Given the description of an element on the screen output the (x, y) to click on. 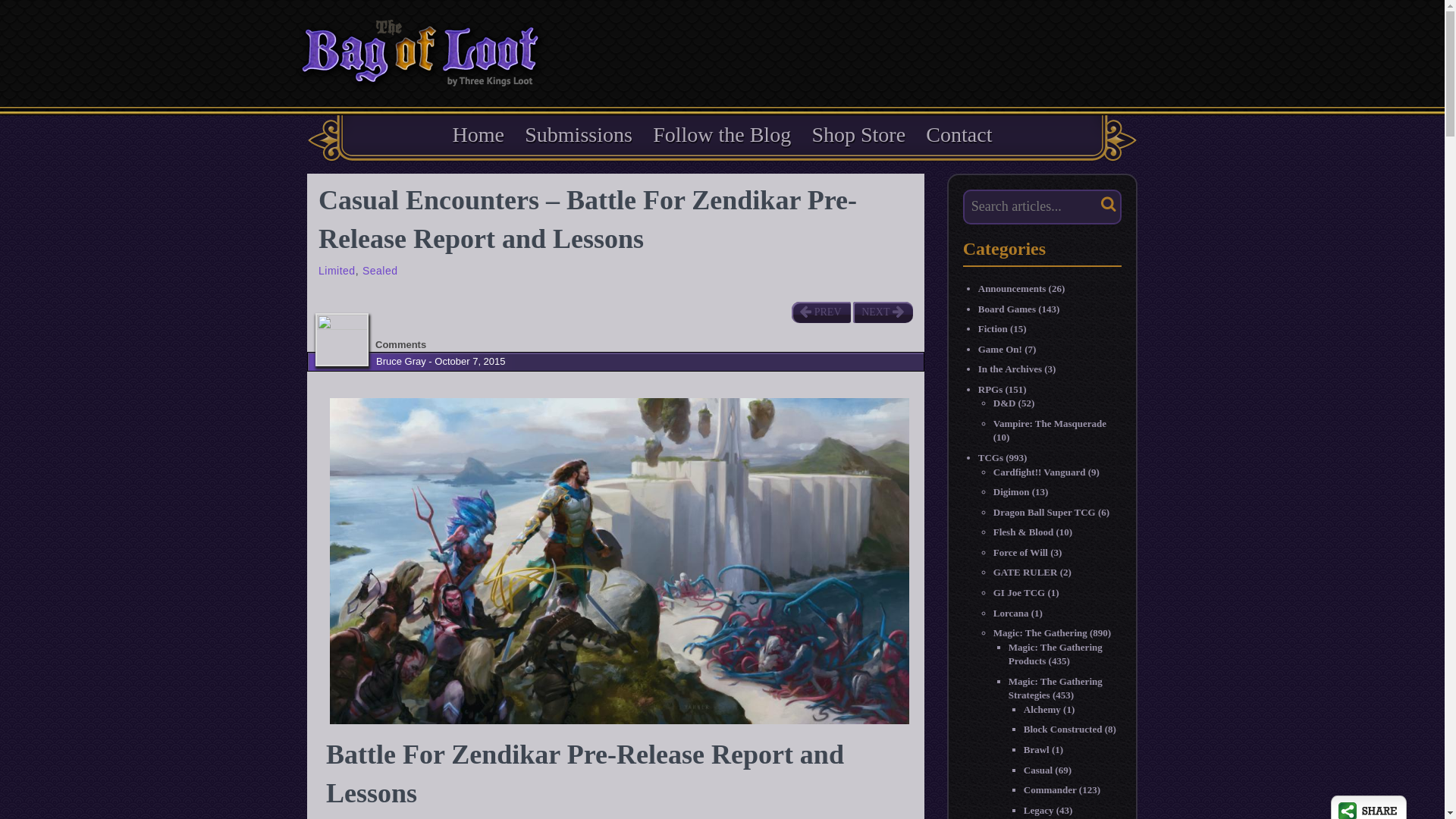
NEXT (881, 312)
Sealed (379, 270)
Comments (400, 344)
View all posts in Sealed (379, 270)
Follow the Blog (721, 134)
Contact (959, 134)
Home (478, 134)
Submissions (578, 134)
Shop Store (858, 134)
PREV (820, 312)
Limited (336, 270)
View all posts in Limited (336, 270)
